Given the description of an element on the screen output the (x, y) to click on. 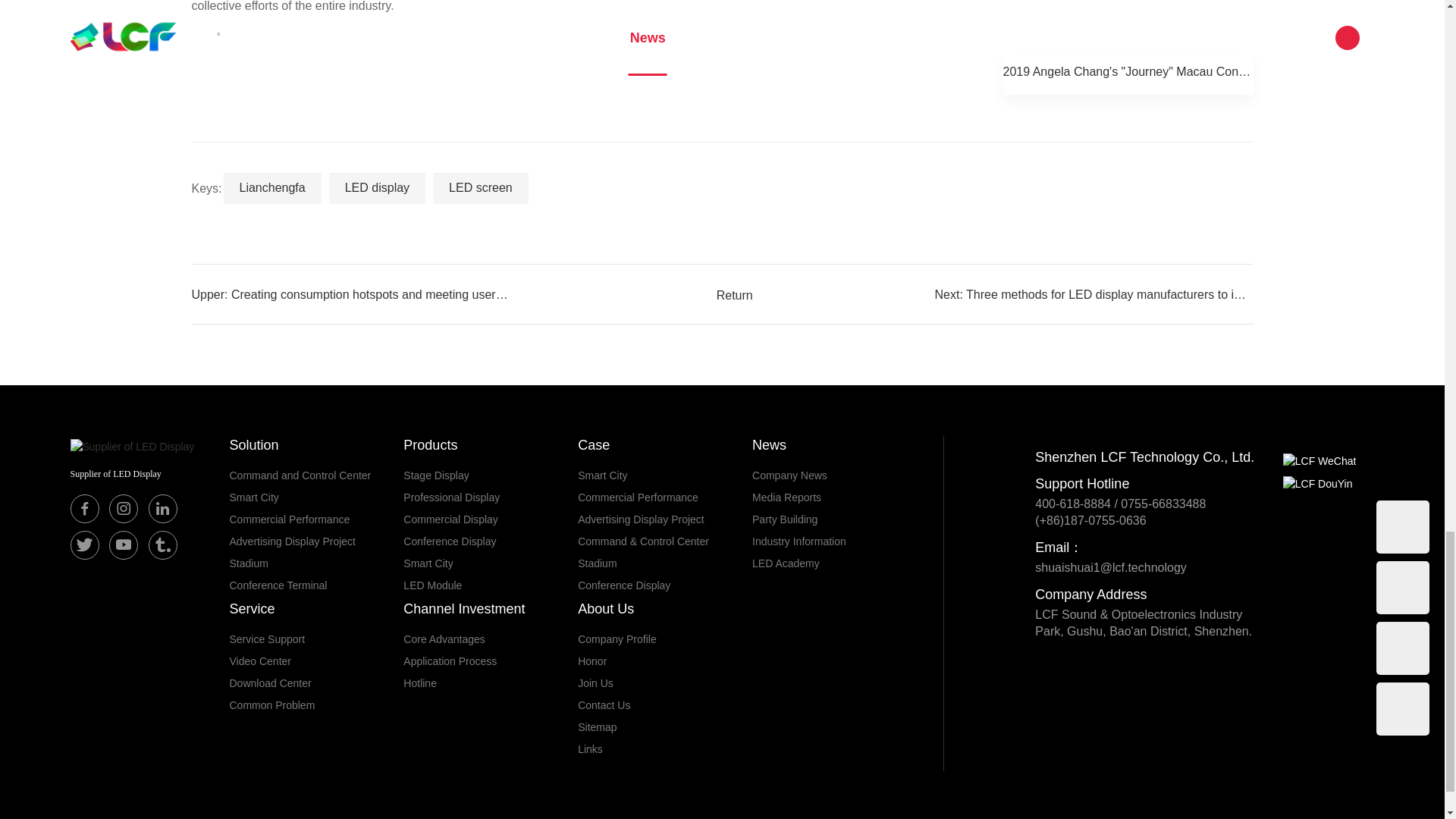
LCF LinKedin  (162, 508)
LCF Facebook (84, 508)
LCF Instagram  (123, 508)
LCF Tumblr (162, 544)
LCF YouTube (123, 544)
LCF Twitter (84, 544)
